Given the description of an element on the screen output the (x, y) to click on. 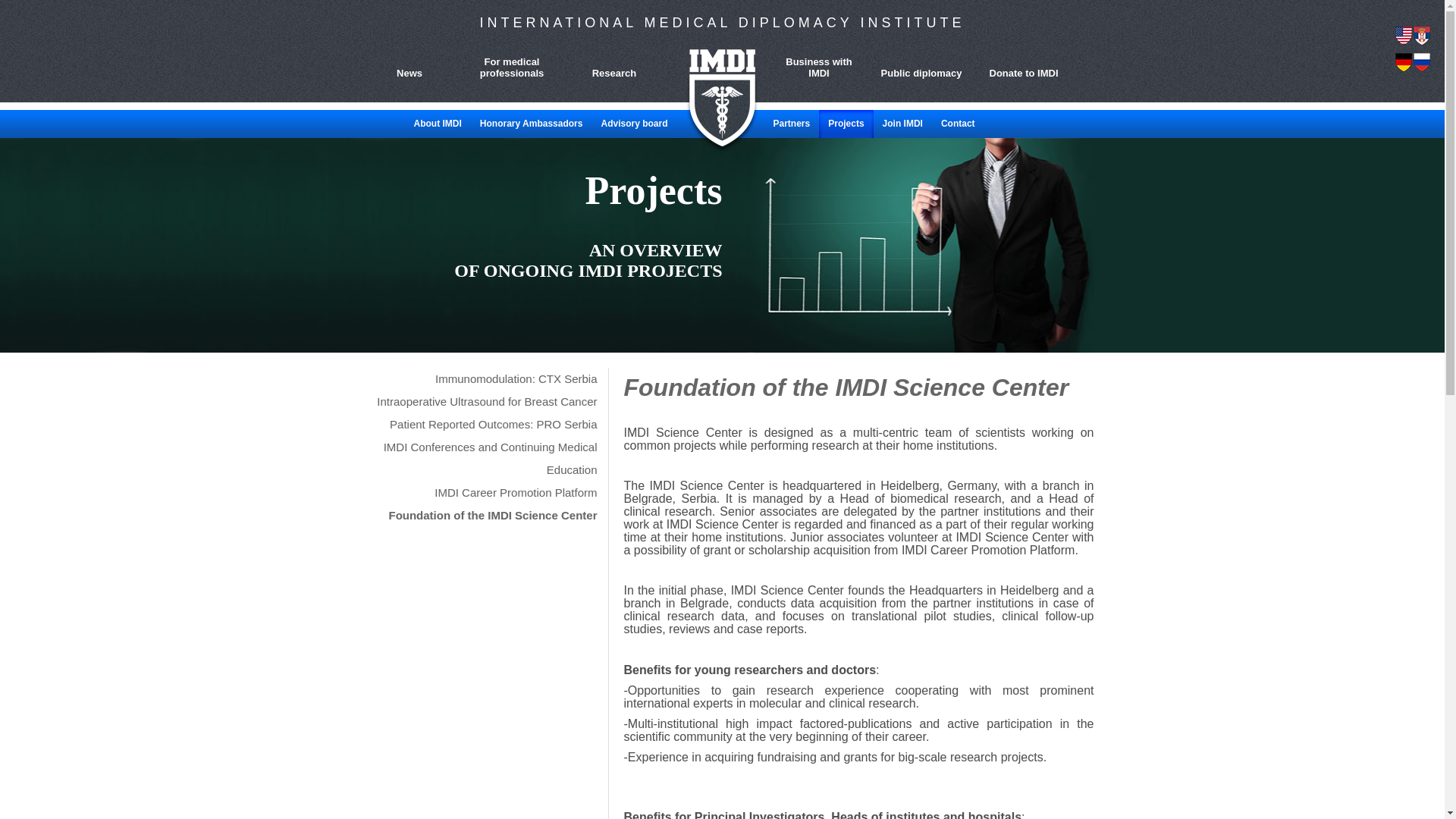
Advisory board (634, 123)
Honorary Ambassadors (531, 123)
INTERNATIONAL MEDICAL DIPLOMACY INSTITUTE (721, 18)
Partners (791, 123)
Donate to IMDI (1015, 61)
For medical professionals (504, 61)
News (401, 61)
Business with IMDI (810, 61)
Public diplomacy (914, 61)
About IMDI (437, 123)
Research (606, 61)
Projects (845, 123)
